Given the description of an element on the screen output the (x, y) to click on. 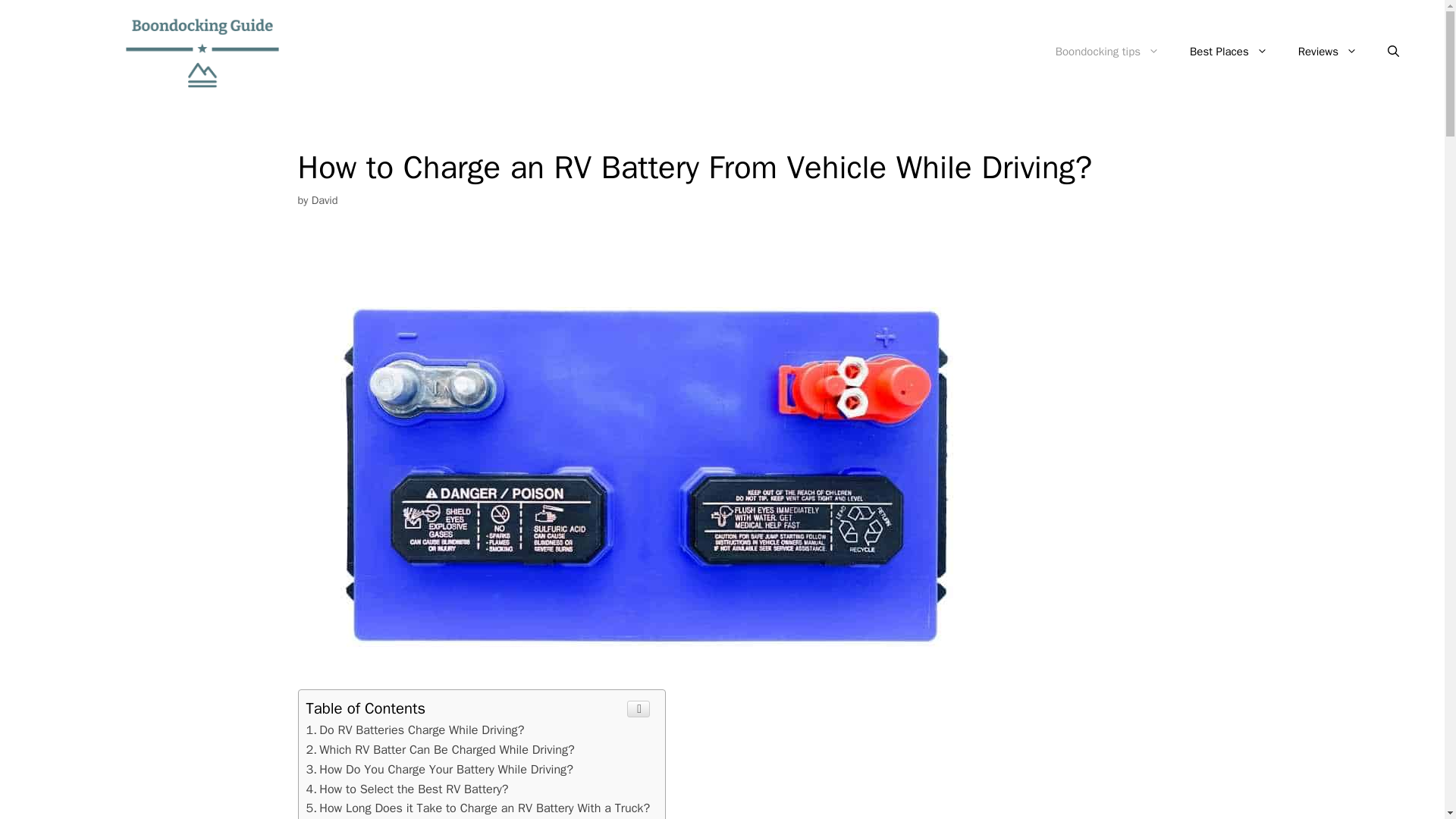
Boondocking tips (1107, 51)
Do RV Batteries Charge While Driving? (414, 729)
How Long Does it Take to Charge an RV Battery With a Truck? (477, 807)
View all posts by David (324, 200)
How Long Does it Take to Charge an RV Battery With a Truck? (477, 807)
Do RV Batteries Charge While Driving? (414, 729)
Reviews (1327, 51)
Which RV Batter Can Be Charged While Driving? (440, 749)
How Do You Charge Your Battery While Driving? (439, 769)
David (324, 200)
